Given the description of an element on the screen output the (x, y) to click on. 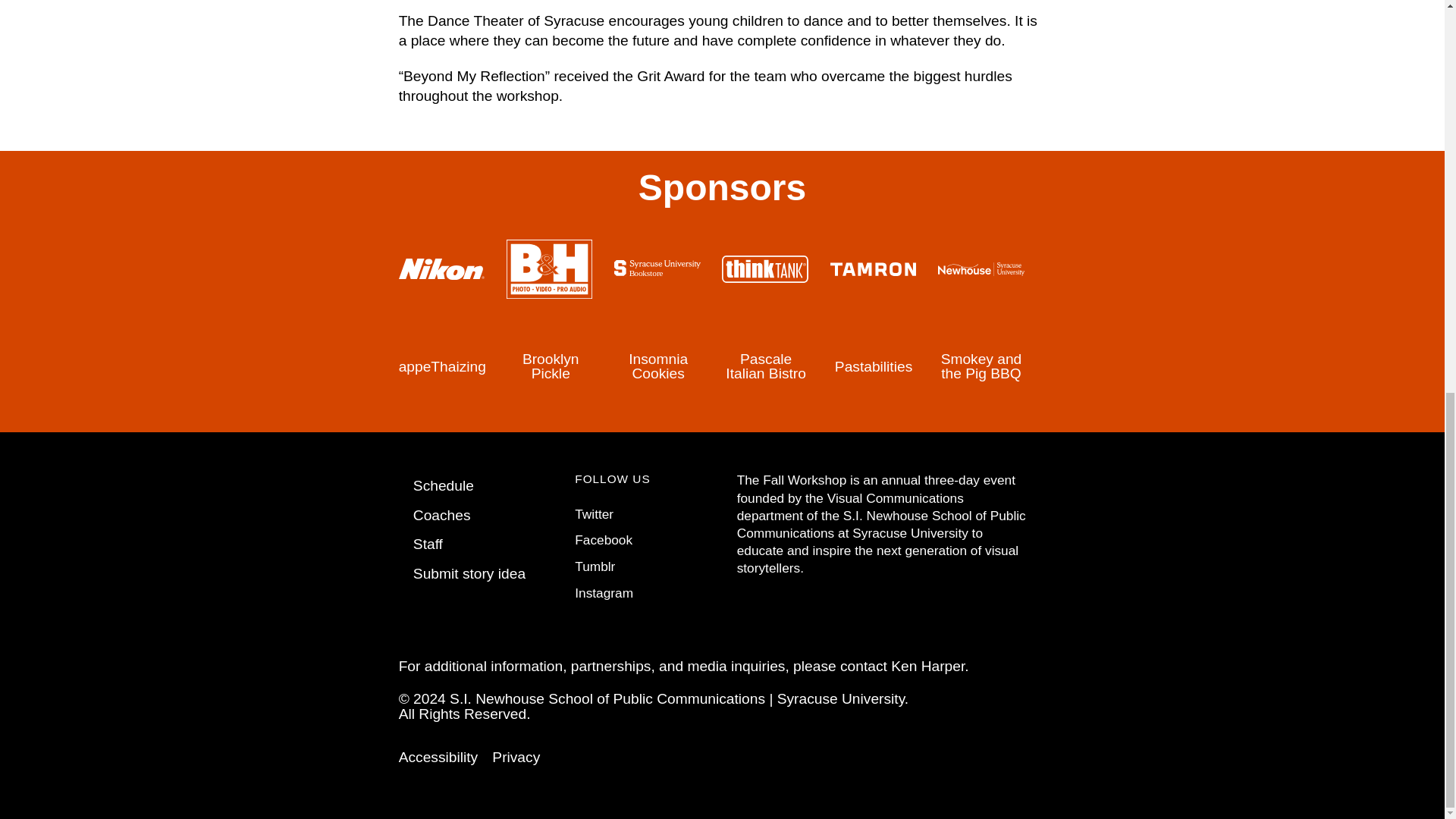
Privacy (516, 756)
appeThaizing (442, 366)
Coaches (441, 514)
Facebook (603, 539)
Submit story idea (469, 573)
Insomnia Cookies (657, 366)
Twitter (593, 513)
Pastabilities (873, 366)
Accessibility (438, 756)
Pascale Italian Bistro (765, 366)
